Given the description of an element on the screen output the (x, y) to click on. 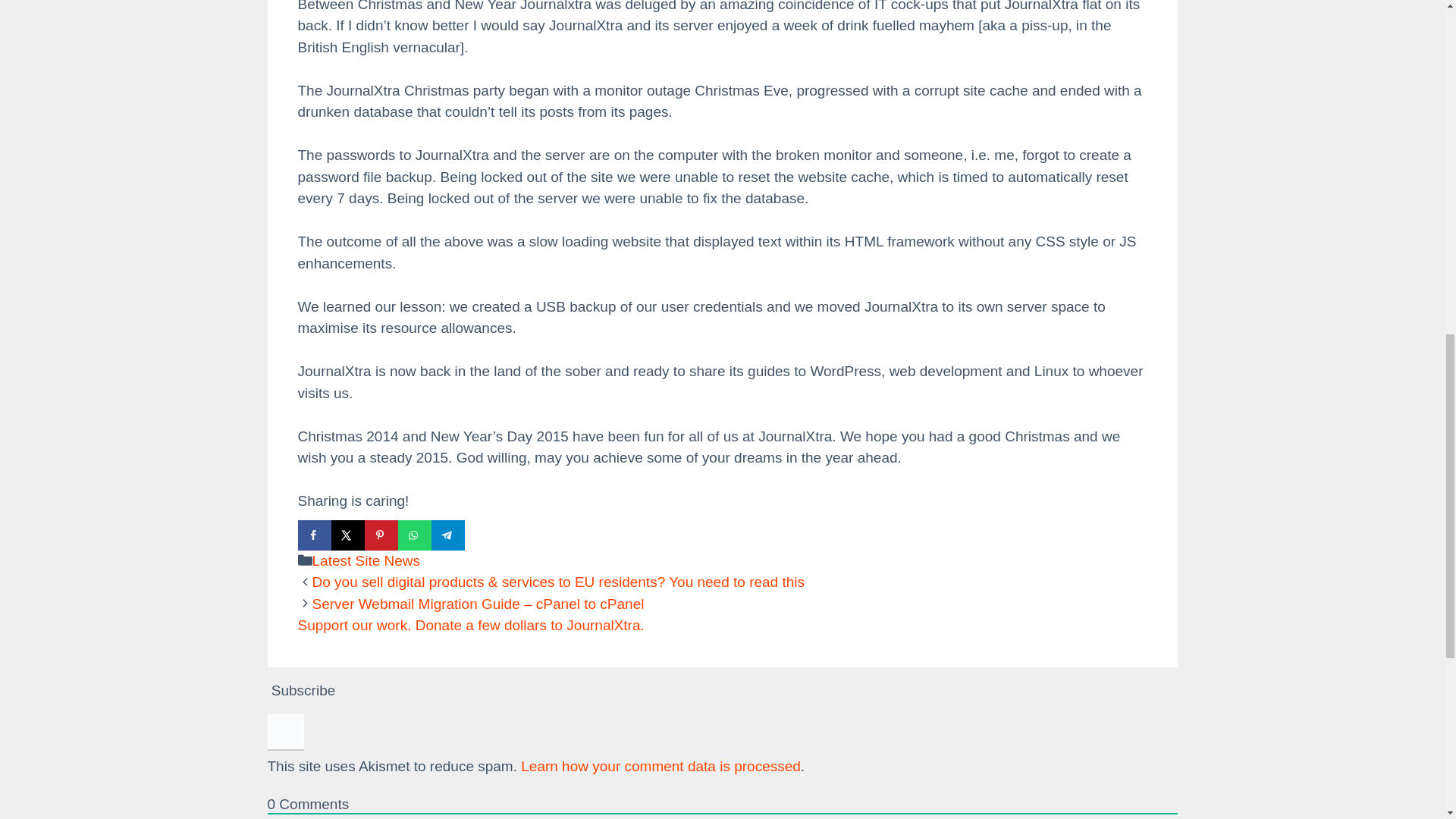
Share on X (347, 535)
Share on WhatsApp (413, 535)
Save to Pinterest (380, 535)
Latest Site News (366, 560)
Share on Facebook (313, 535)
Send over email (480, 535)
Support our work. Donate a few dollars to JournalXtra. (470, 625)
Share on Telegram (447, 535)
